Given the description of an element on the screen output the (x, y) to click on. 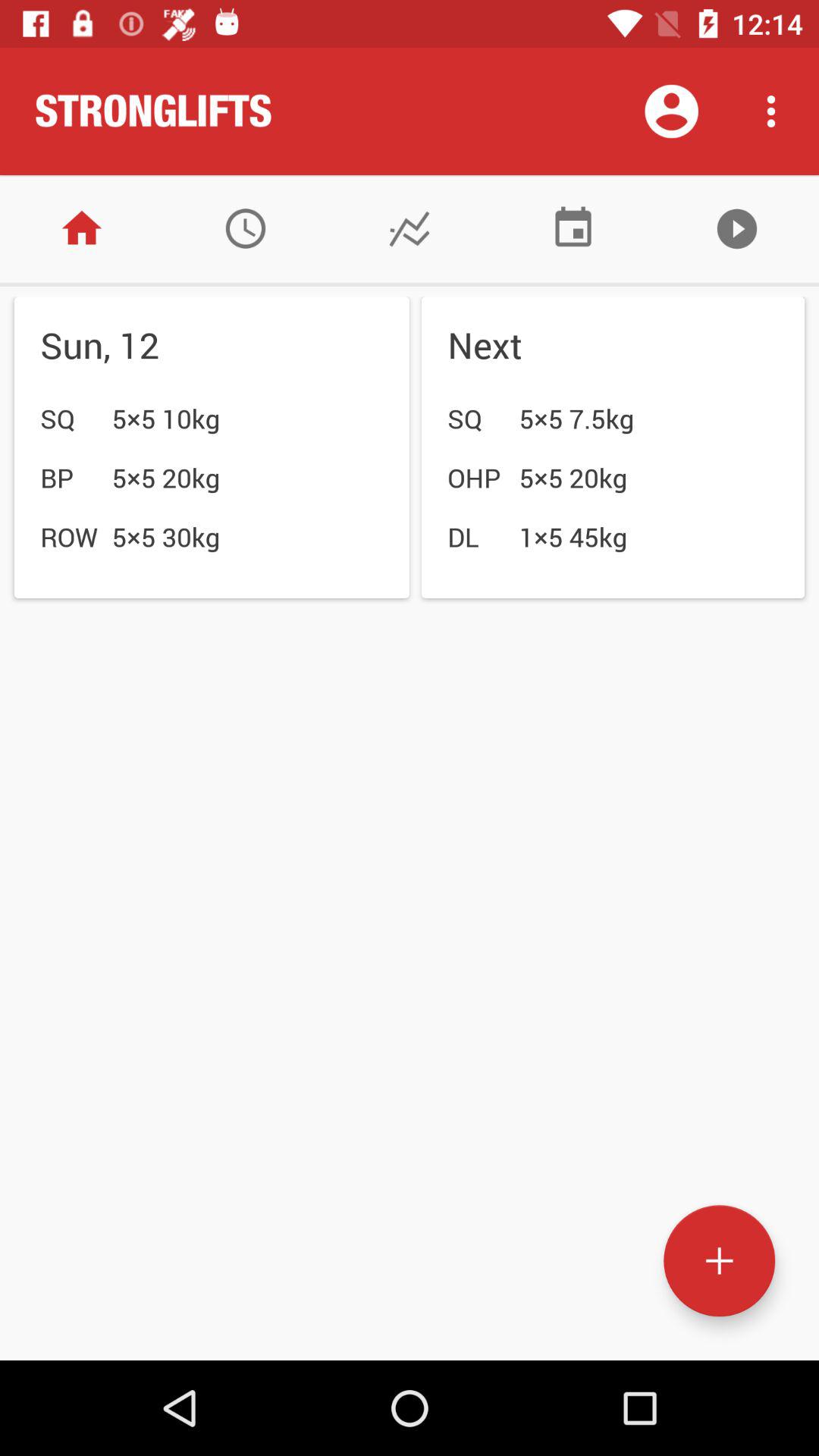
go to workout planner (245, 228)
